Given the description of an element on the screen output the (x, y) to click on. 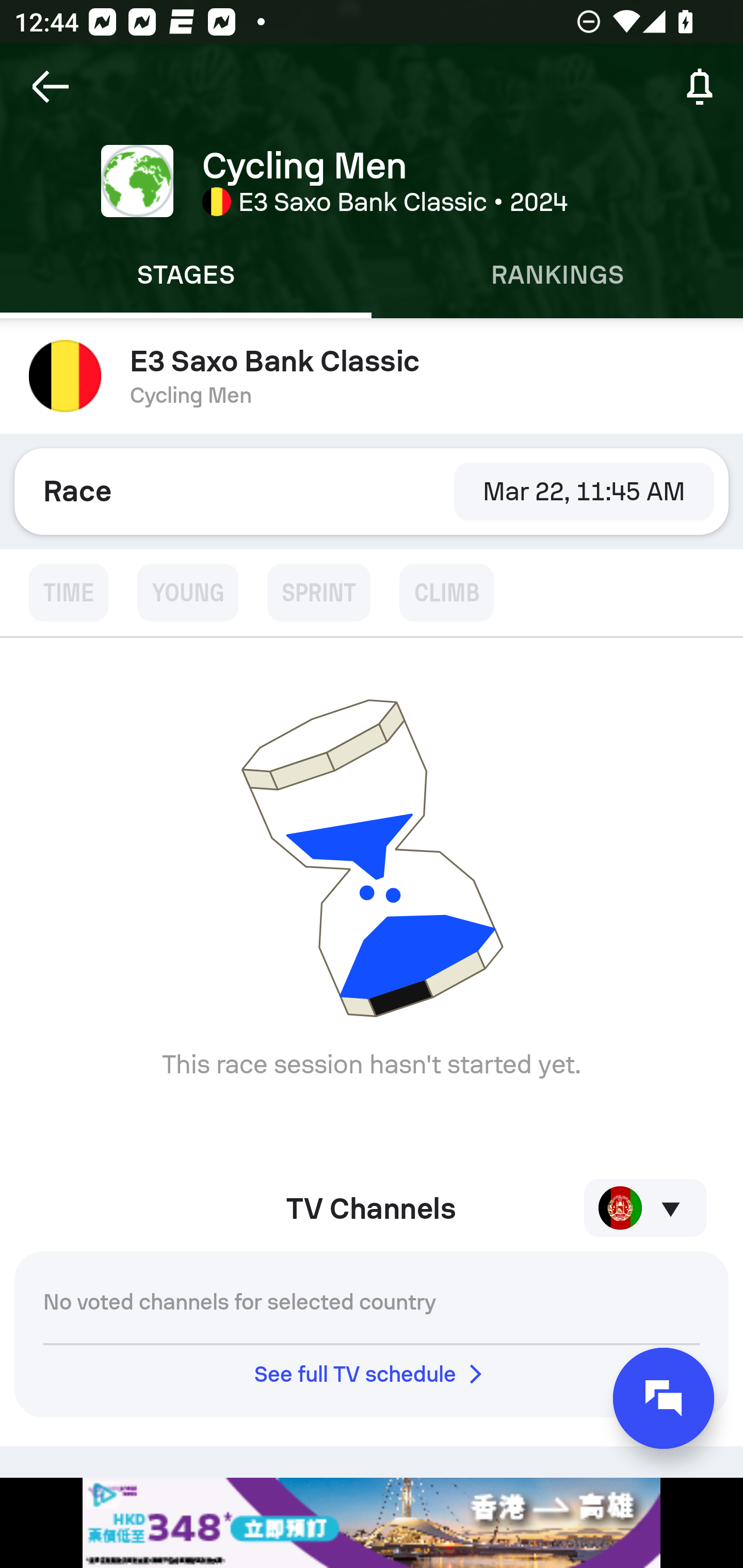
Navigate up (50, 86)
Rankings RANKINGS (557, 275)
Race Mar 22, 11:45 AM (371, 491)
Mar 22, 11:45 AM (583, 491)
See full TV schedule (371, 1374)
CHAT (663, 1398)
2ph9hx2a_320x50 (371, 1522)
